Given the description of an element on the screen output the (x, y) to click on. 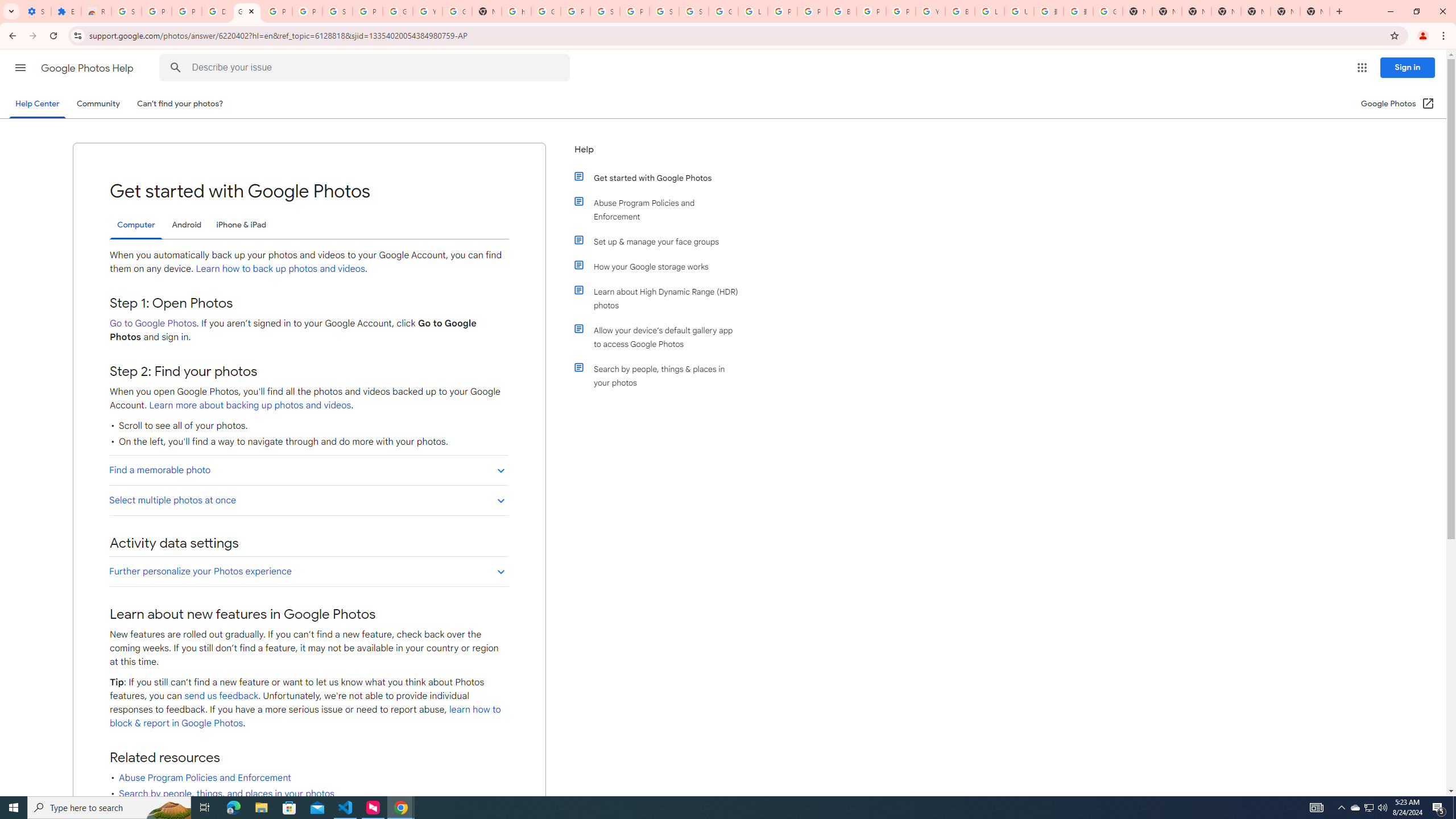
Find a memorable photo (308, 469)
https://scholar.google.com/ (515, 11)
Set up & manage your face groups (661, 241)
send us feedback (221, 695)
Delete photos & videos - Computer - Google Photos Help (216, 11)
Google Photos (Open in a new window) (1397, 103)
Learn about High Dynamic Range (HDR) photos (661, 298)
Sign in - Google Accounts (693, 11)
